Given the description of an element on the screen output the (x, y) to click on. 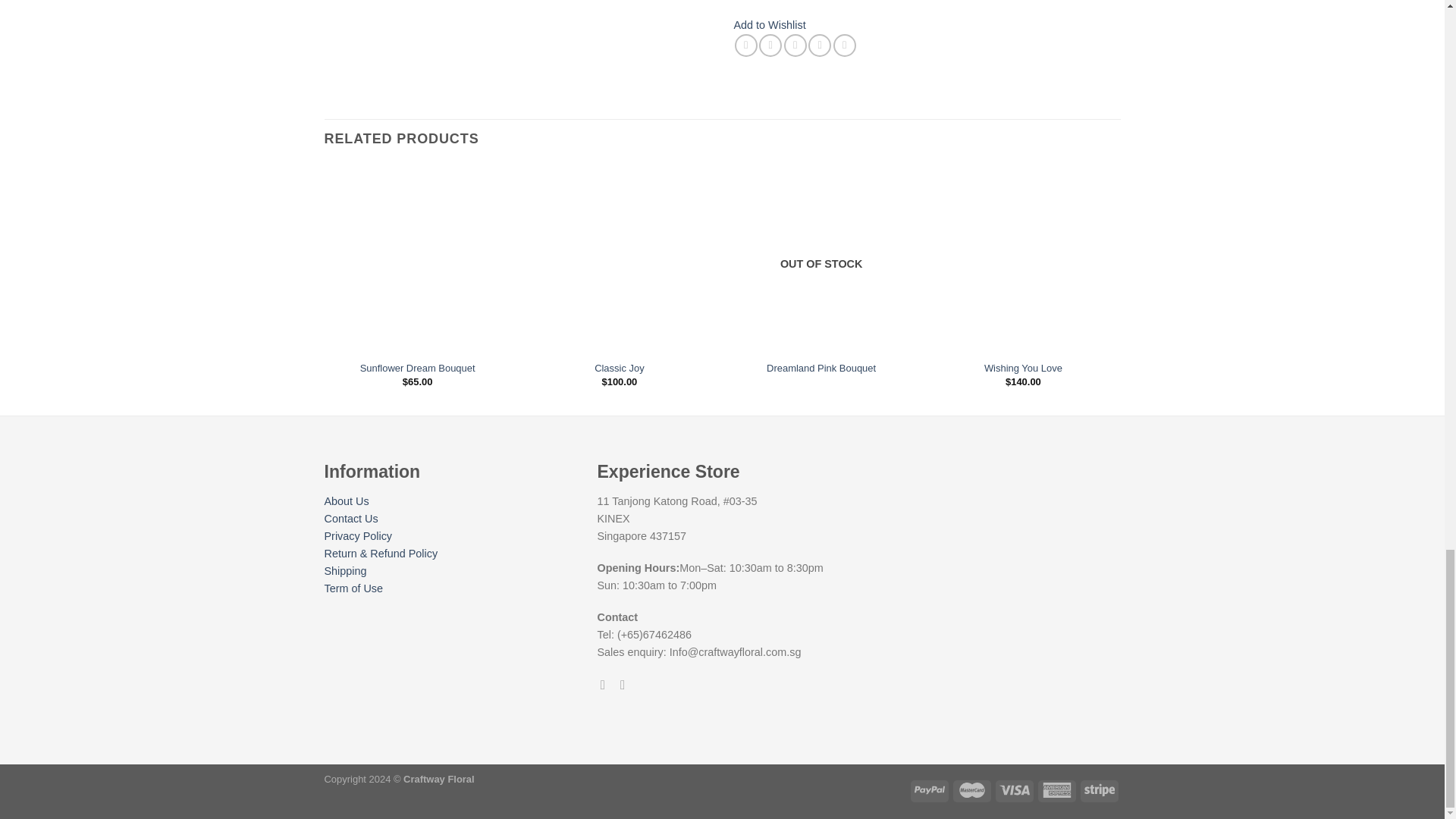
Email to a Friend (795, 45)
Share on Facebook (746, 45)
Share on Twitter (769, 45)
Pin on Pinterest (819, 45)
Share on LinkedIn (844, 45)
